Given the description of an element on the screen output the (x, y) to click on. 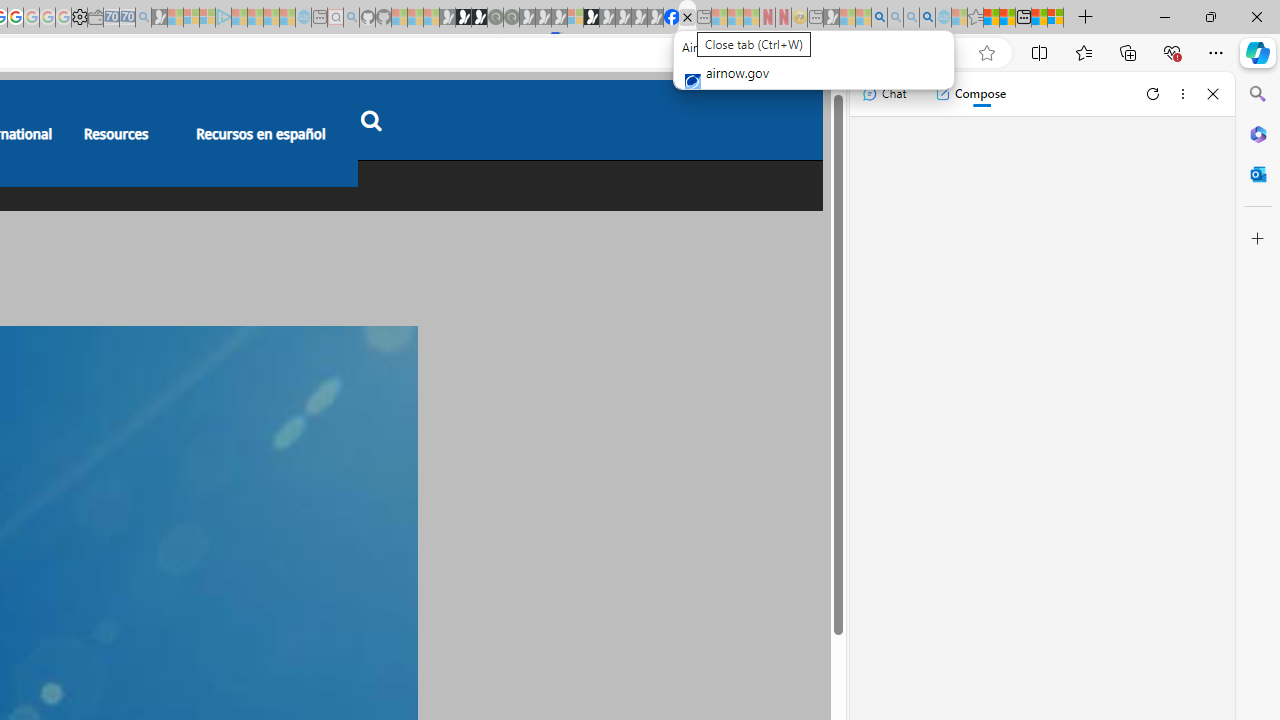
Class: main-link dropbtn-nav-link (260, 133)
Compose (970, 93)
